Given the description of an element on the screen output the (x, y) to click on. 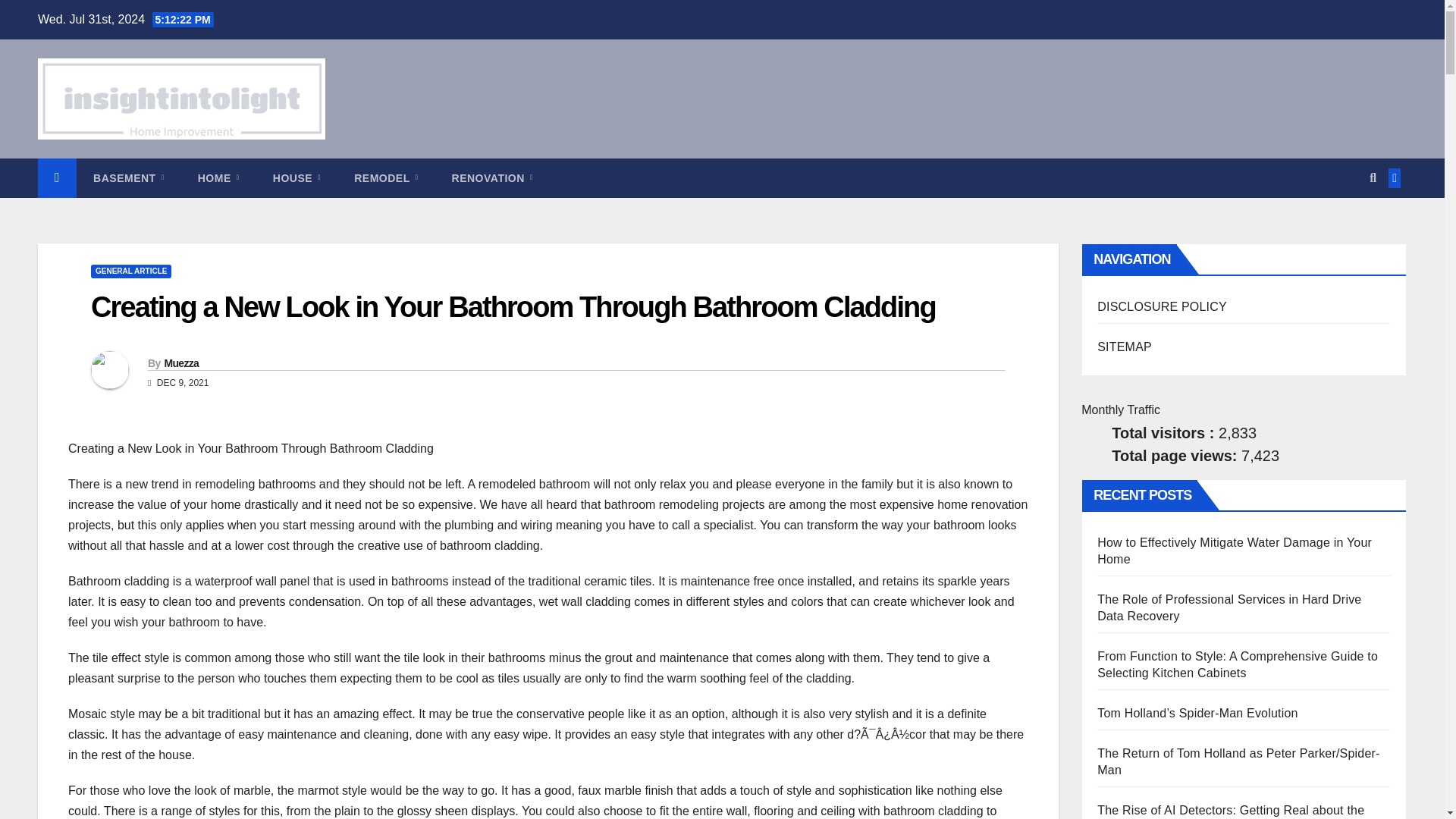
BASEMENT (128, 178)
REMODEL (385, 178)
HOUSE (296, 178)
GENERAL ARTICLE (130, 271)
HOME (218, 178)
Home (218, 178)
Basement (128, 178)
House (296, 178)
RENOVATION (492, 178)
